Given the description of an element on the screen output the (x, y) to click on. 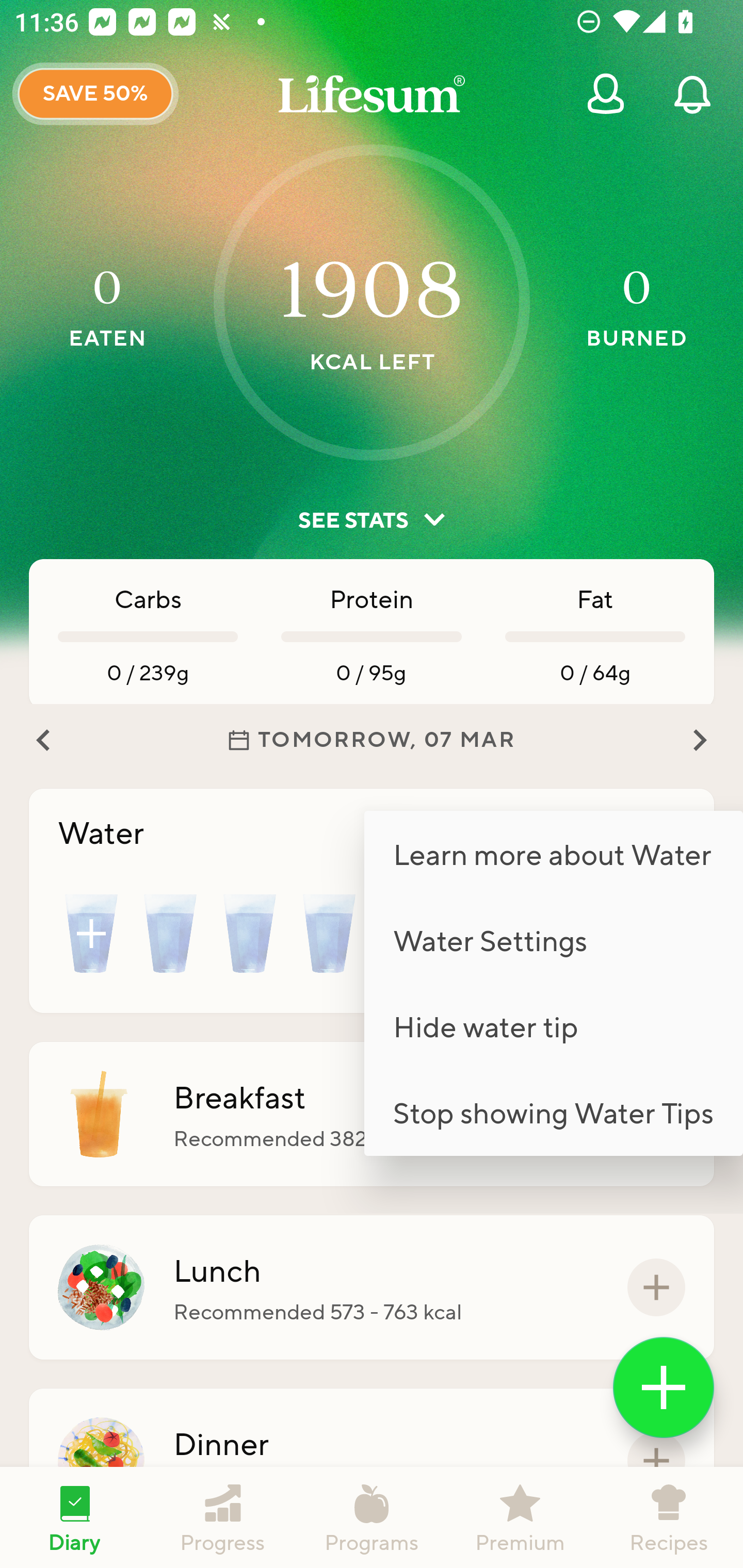
Learn more about Water (553, 853)
Water Settings (553, 939)
Hide water tip (553, 1026)
Stop showing Water Tips (553, 1112)
